Given the description of an element on the screen output the (x, y) to click on. 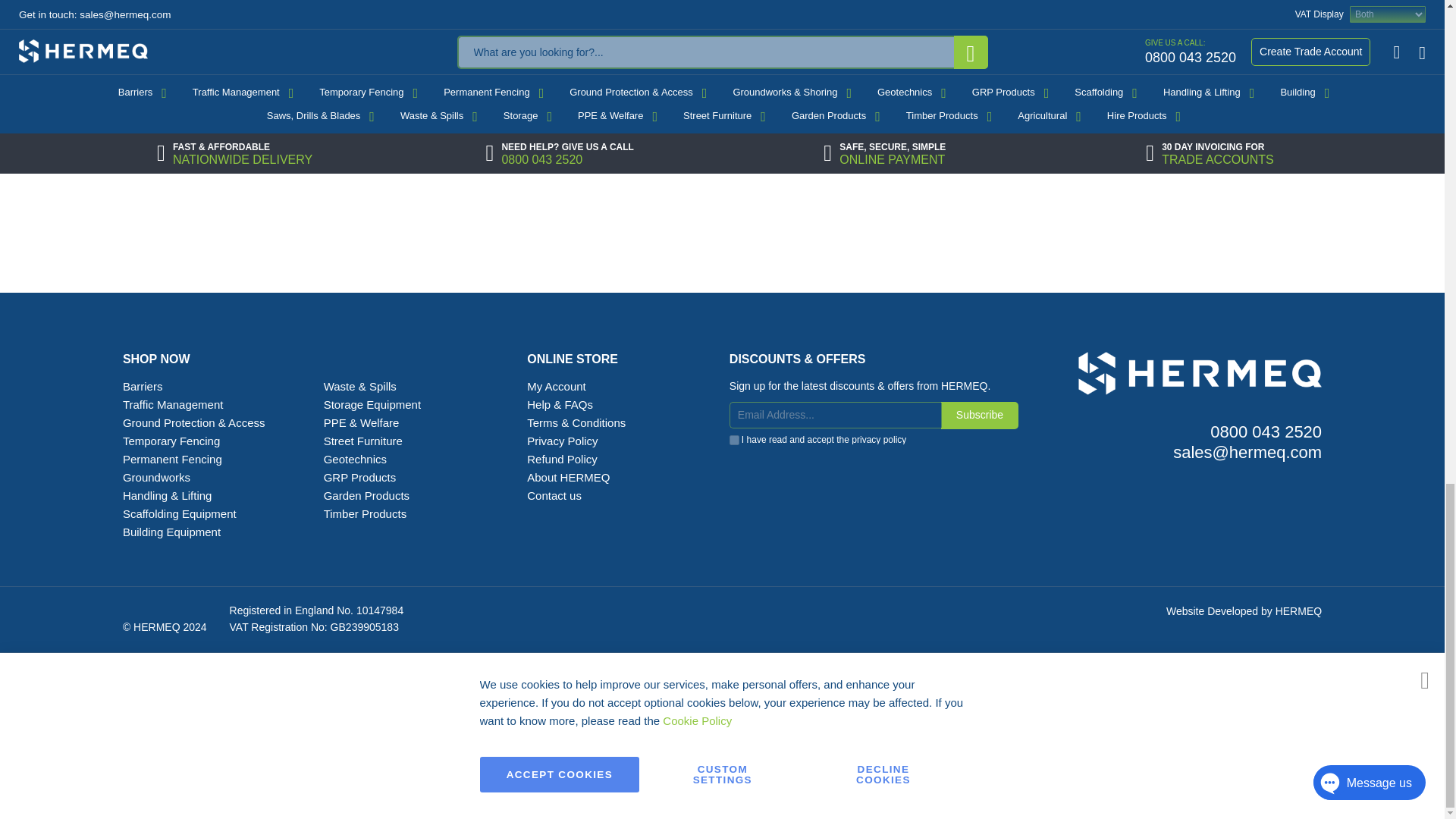
1 (734, 439)
